Given the description of an element on the screen output the (x, y) to click on. 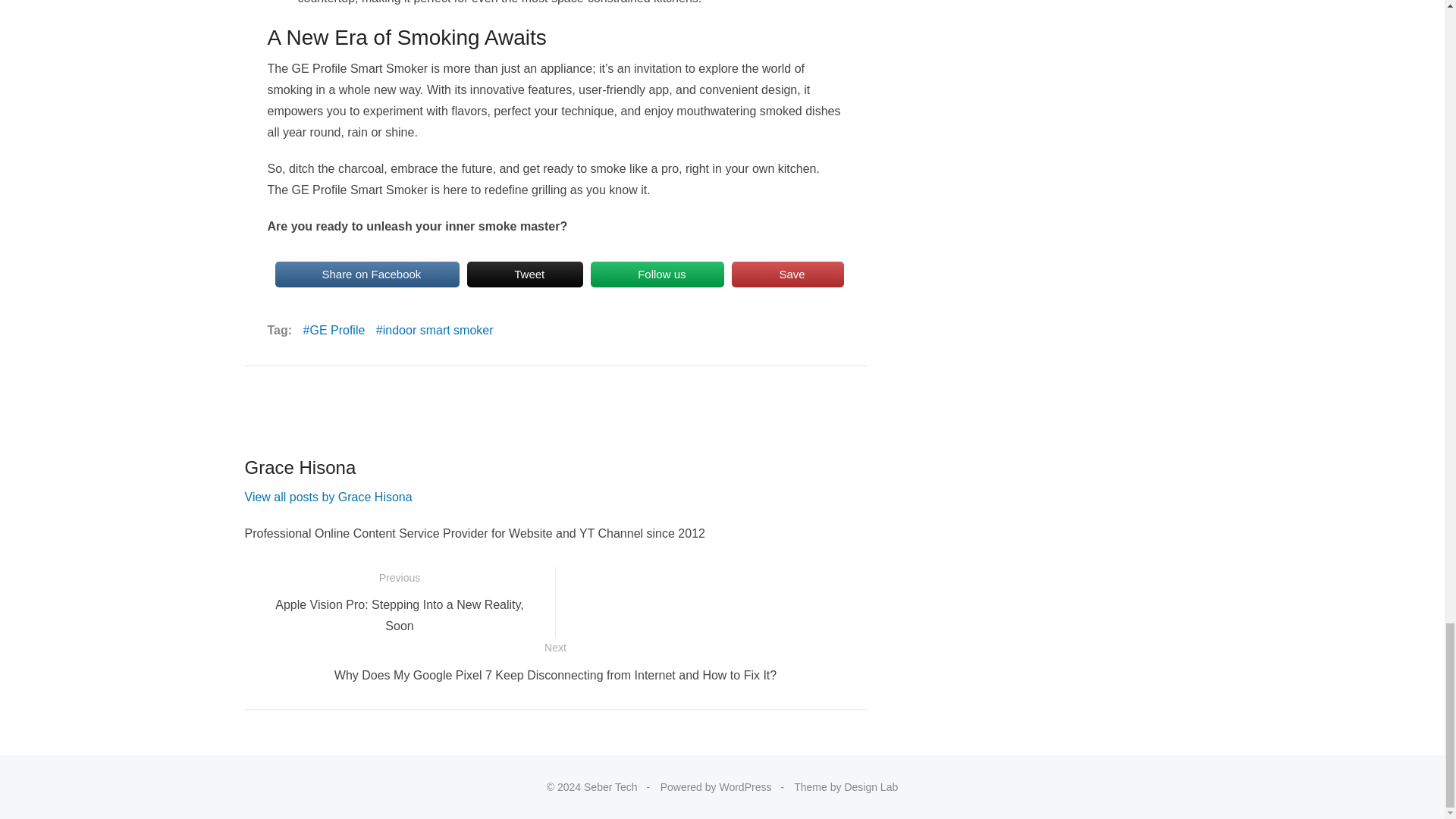
Share on Facebook (367, 274)
Tweet (525, 274)
Follow us (657, 274)
